Given the description of an element on the screen output the (x, y) to click on. 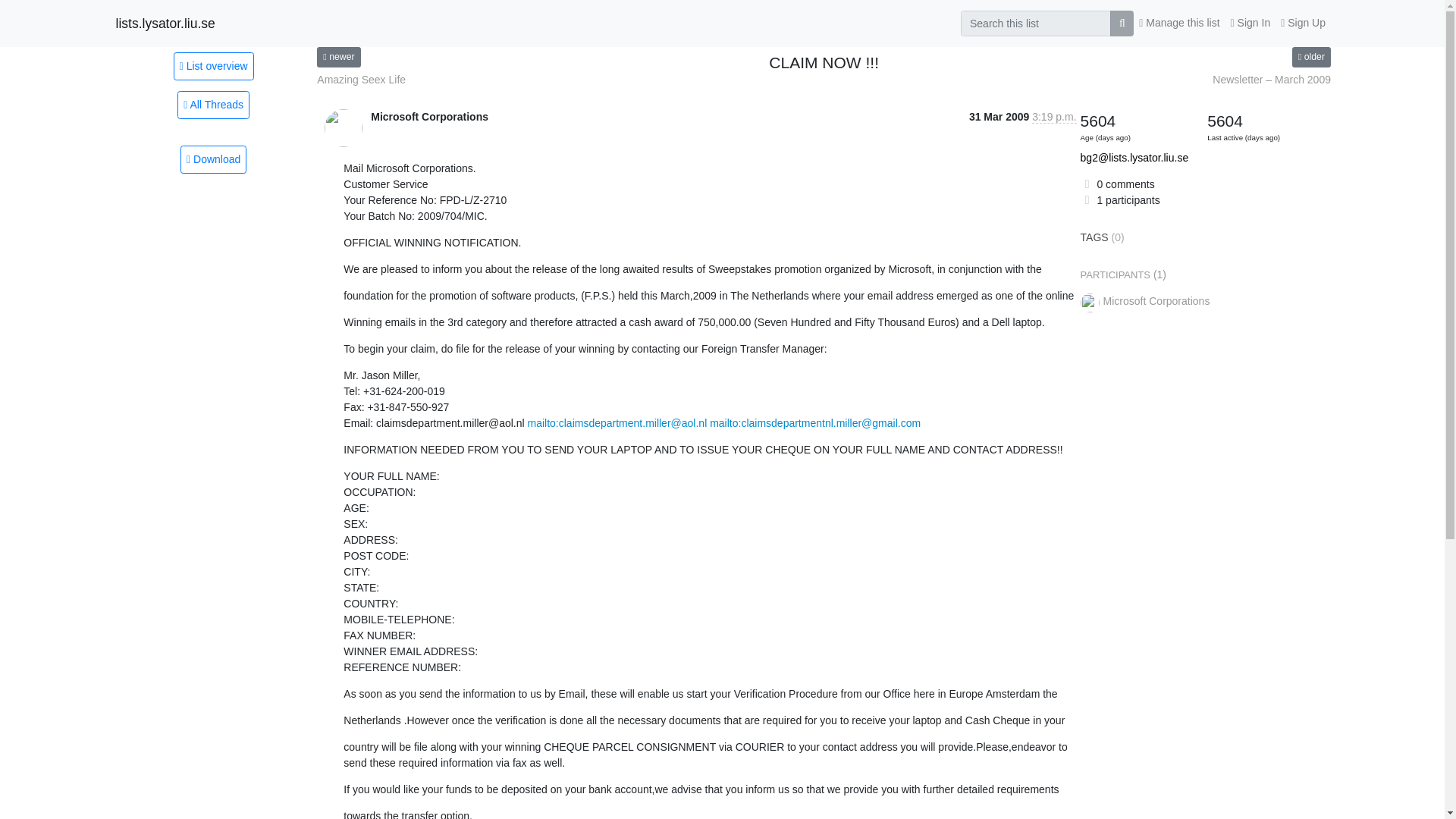
Download (213, 159)
Manage this list (1179, 22)
Amazing Seex Life (361, 79)
newer (338, 56)
This thread in gzipped mbox format (213, 159)
Sign Up (1302, 22)
lists.lysator.liu.se (164, 22)
older (1311, 56)
Amazing Seex Life (338, 56)
Sign In (1250, 22)
List overview (213, 65)
Amazing Seex Life (361, 79)
Sender's time: March 31, 2009, 3:19 p.m. (1053, 116)
All Threads (212, 104)
